Given the description of an element on the screen output the (x, y) to click on. 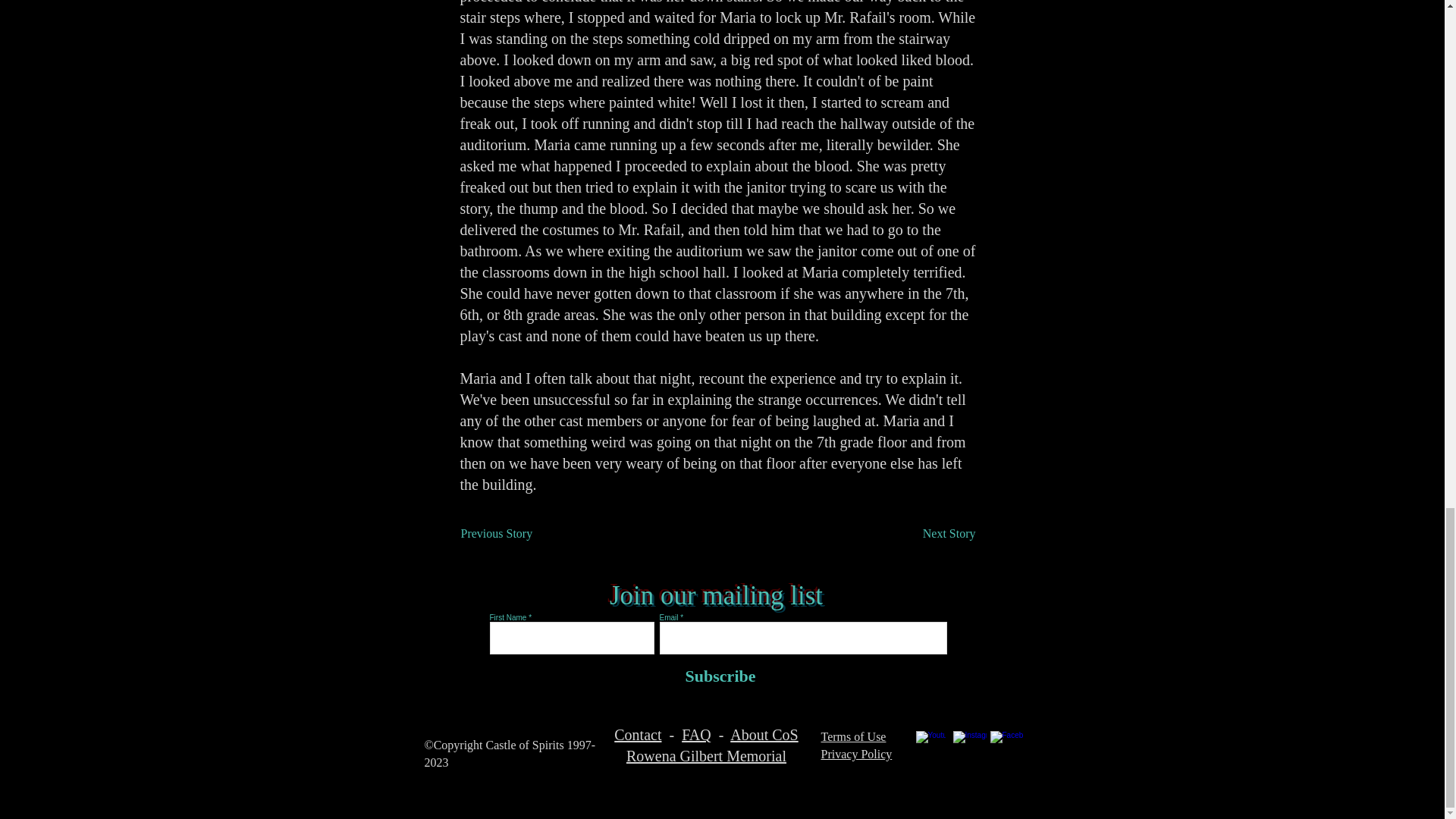
FAQ (696, 734)
Next Story (937, 533)
About CoS (763, 734)
Rowena Gilbert Memorial (706, 755)
Privacy Policy (856, 753)
Terms of Use (853, 736)
Subscribe (717, 676)
Previous Story (510, 533)
Contact (637, 734)
